Given the description of an element on the screen output the (x, y) to click on. 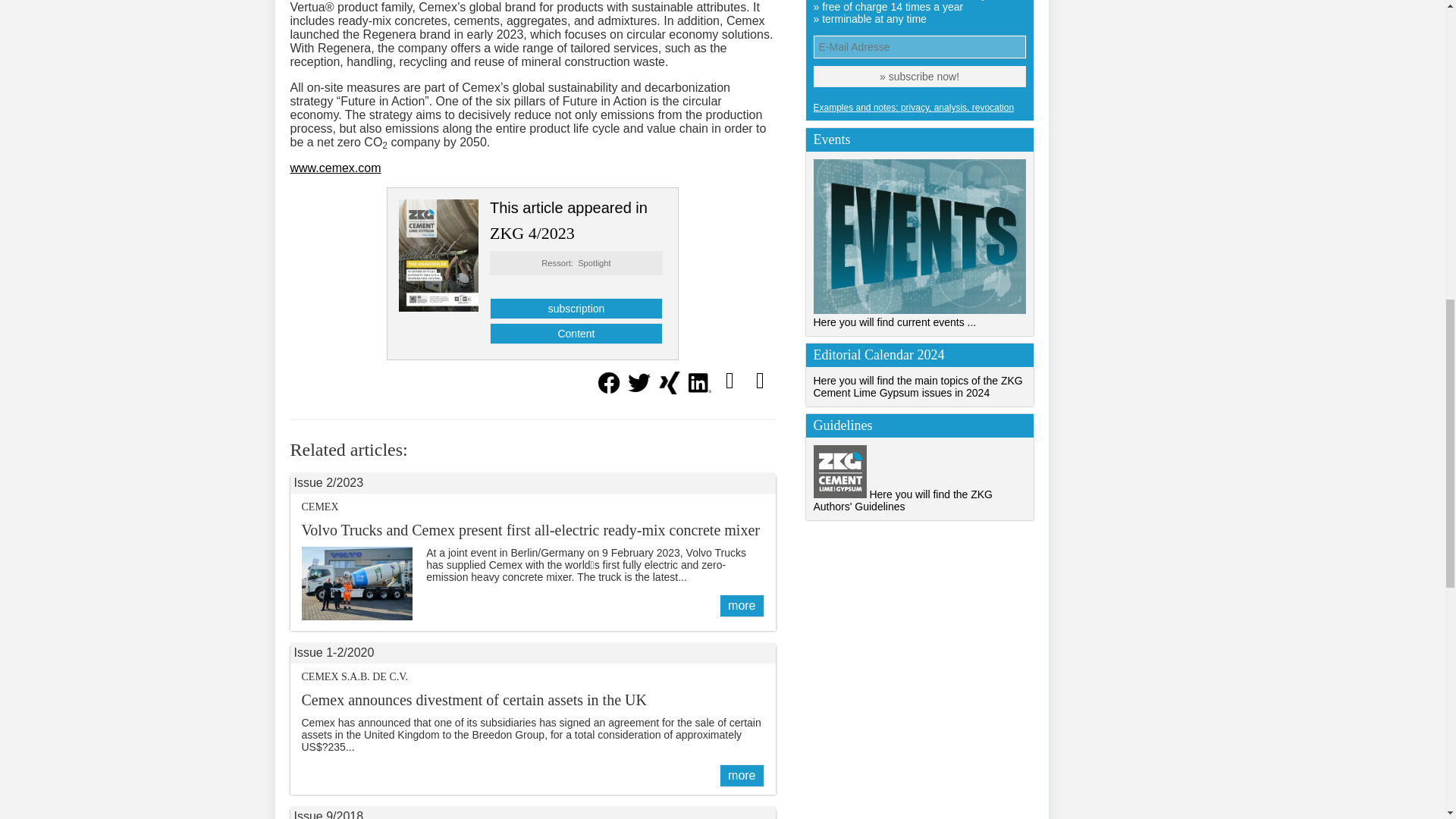
Auf LinkedIn teilen (699, 389)
more (740, 605)
Auf facebook teilen (607, 389)
Artikel drucken (759, 379)
Content (575, 332)
Cemex announces divestment of certain assets in the UK (740, 775)
subscription (575, 308)
Tweet auf Twitter (638, 389)
Auf Xing teilen (668, 389)
Per E-Mail teilen (729, 379)
www.cemex.com (334, 167)
